Given the description of an element on the screen output the (x, y) to click on. 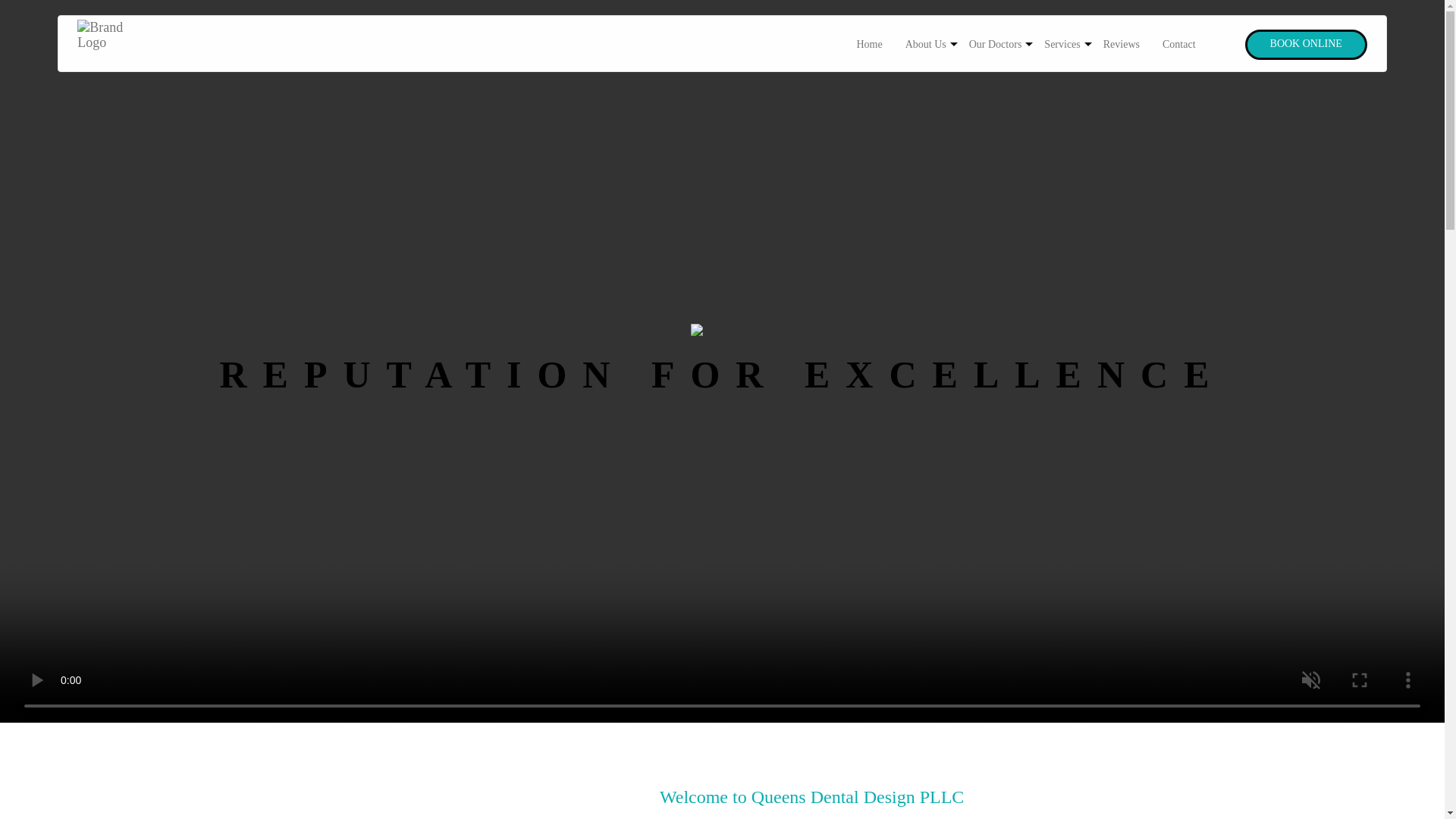
BOOK ONLINE (1305, 44)
Reviews (1121, 43)
Services (1061, 43)
About Us (925, 43)
Our Doctors (995, 43)
Brand Logo (722, 331)
Brand Logo (114, 43)
Contact (1179, 43)
